Given the description of an element on the screen output the (x, y) to click on. 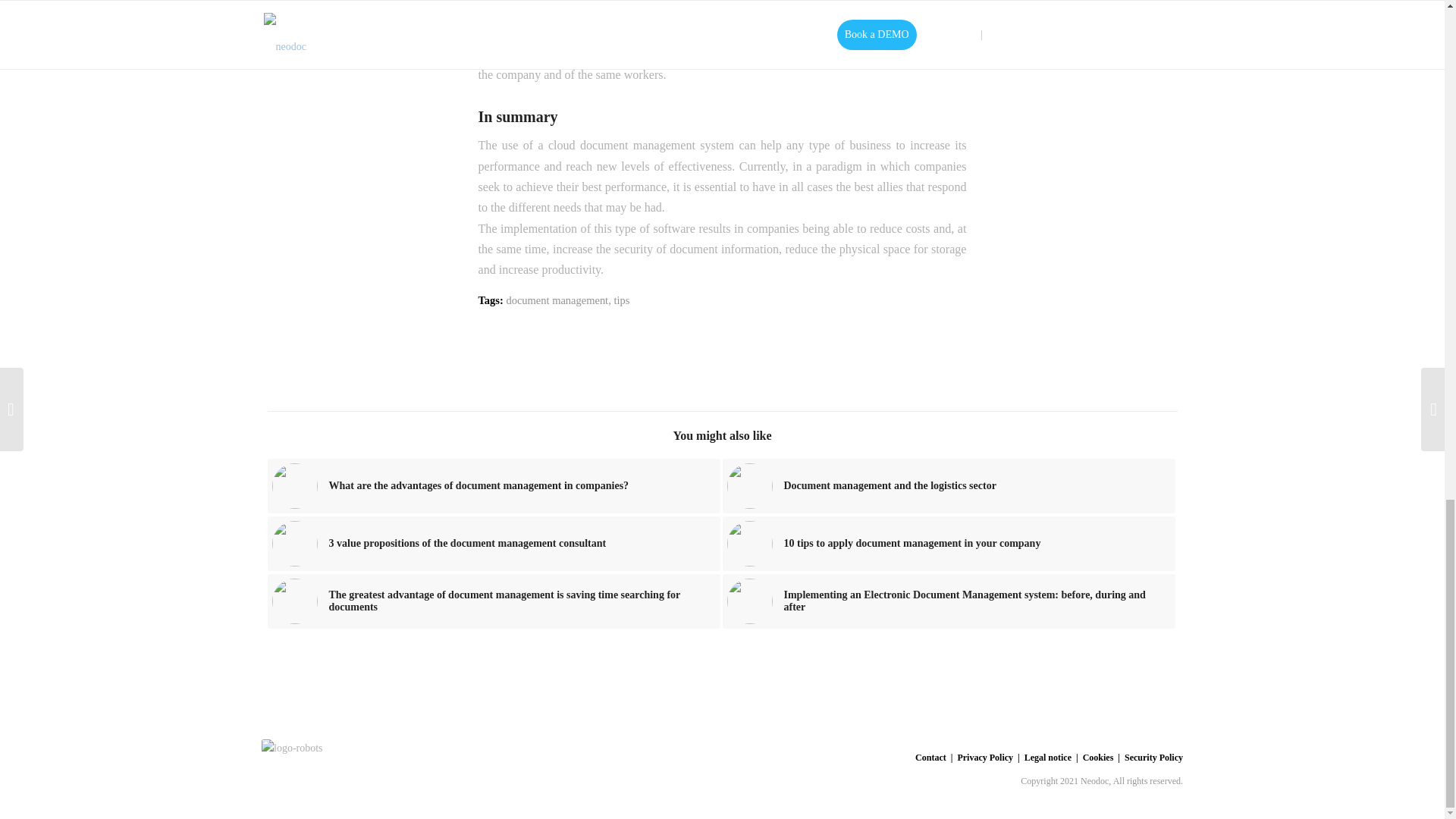
Document management and the logistics sector (948, 485)
What are the advantages of document management in companies? (492, 485)
Contact (930, 757)
3 value propositions of the document management consultant (492, 543)
tips (620, 300)
10 tips to apply document management in your company (948, 543)
Privacy Policy (984, 757)
document management (556, 300)
